Given the description of an element on the screen output the (x, y) to click on. 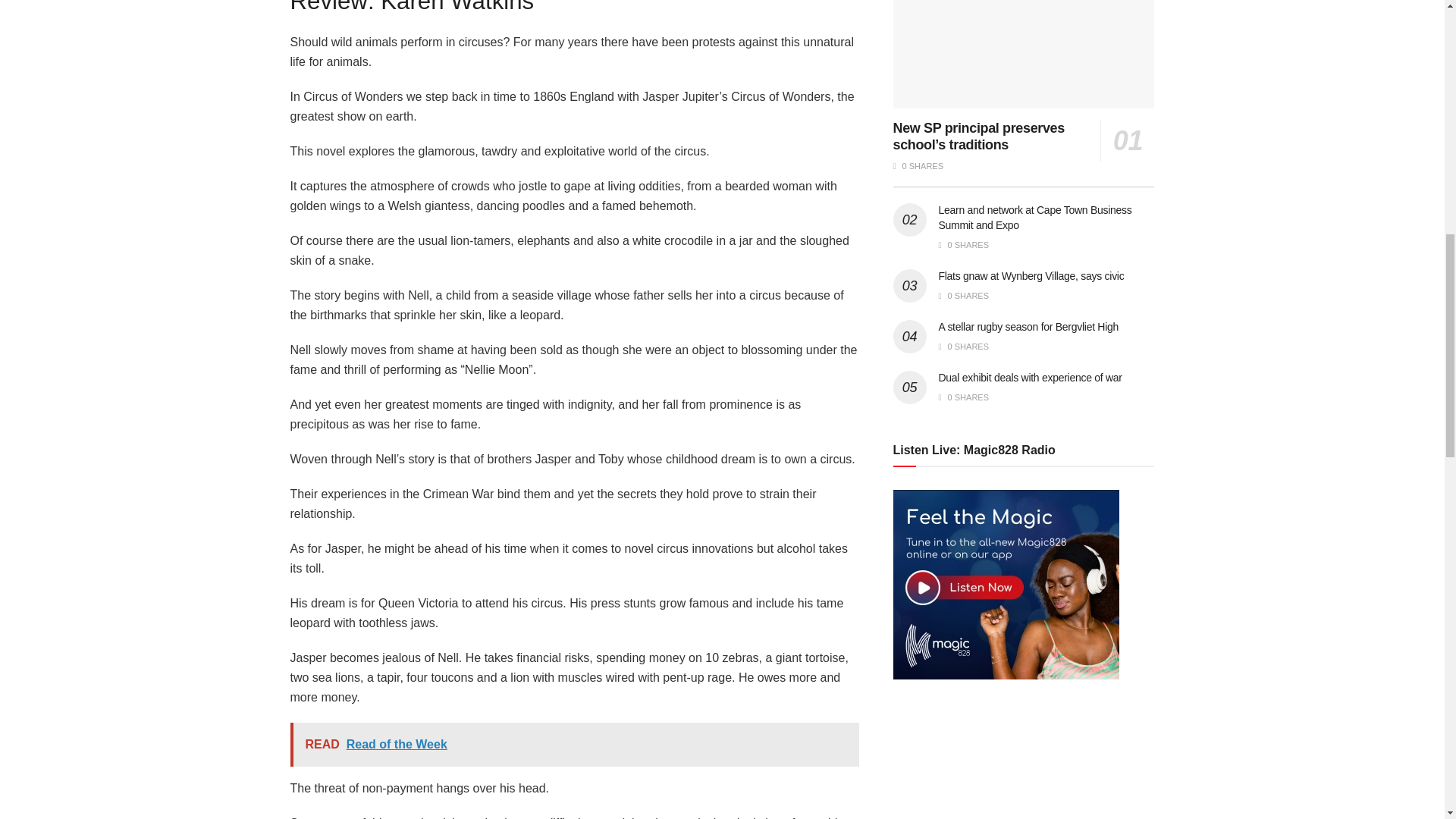
READ  Read of the Week (574, 744)
